Given the description of an element on the screen output the (x, y) to click on. 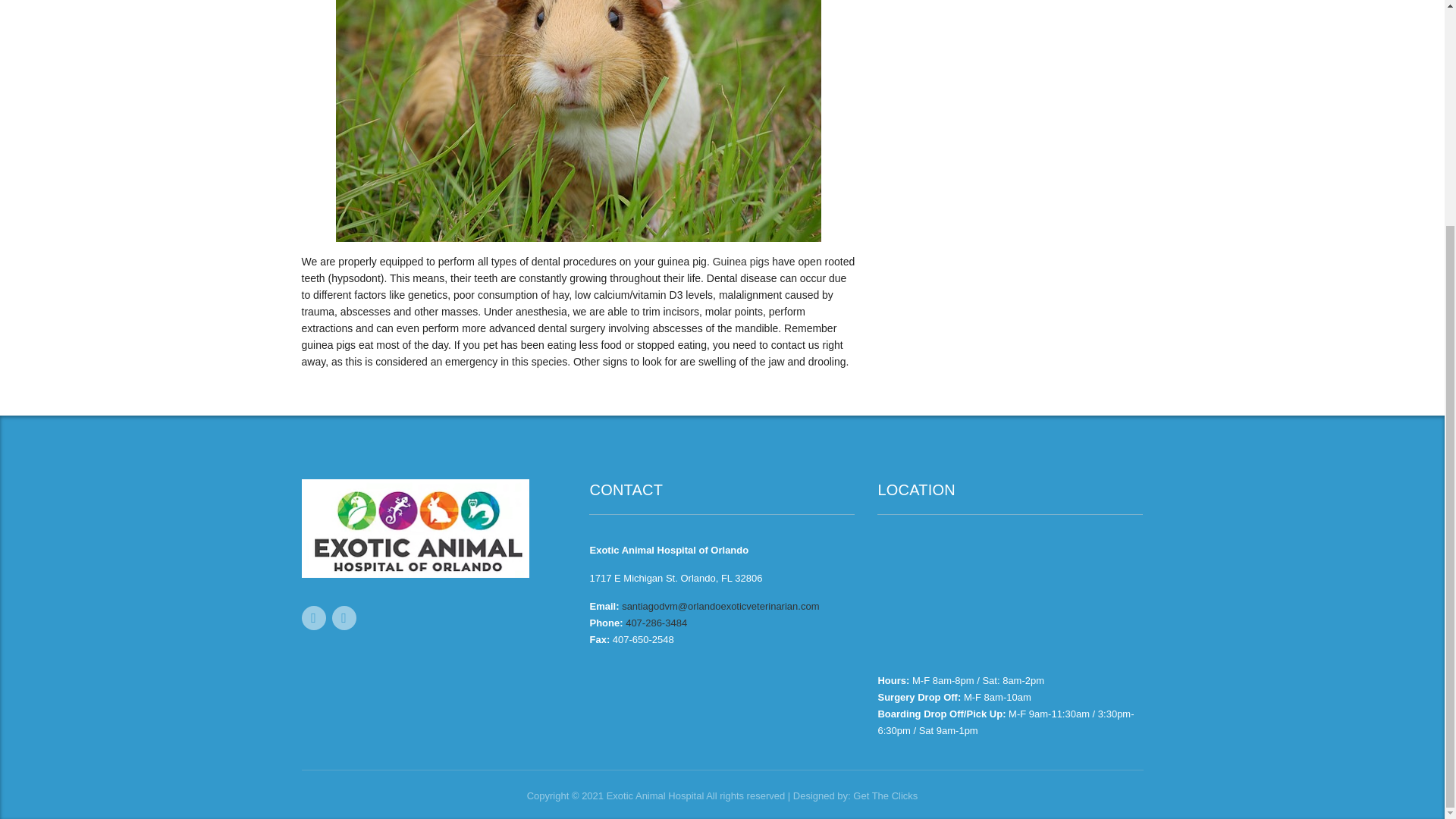
Get The Clicks (885, 795)
407-286-3484 (656, 622)
Guinea pigs (741, 261)
